Given the description of an element on the screen output the (x, y) to click on. 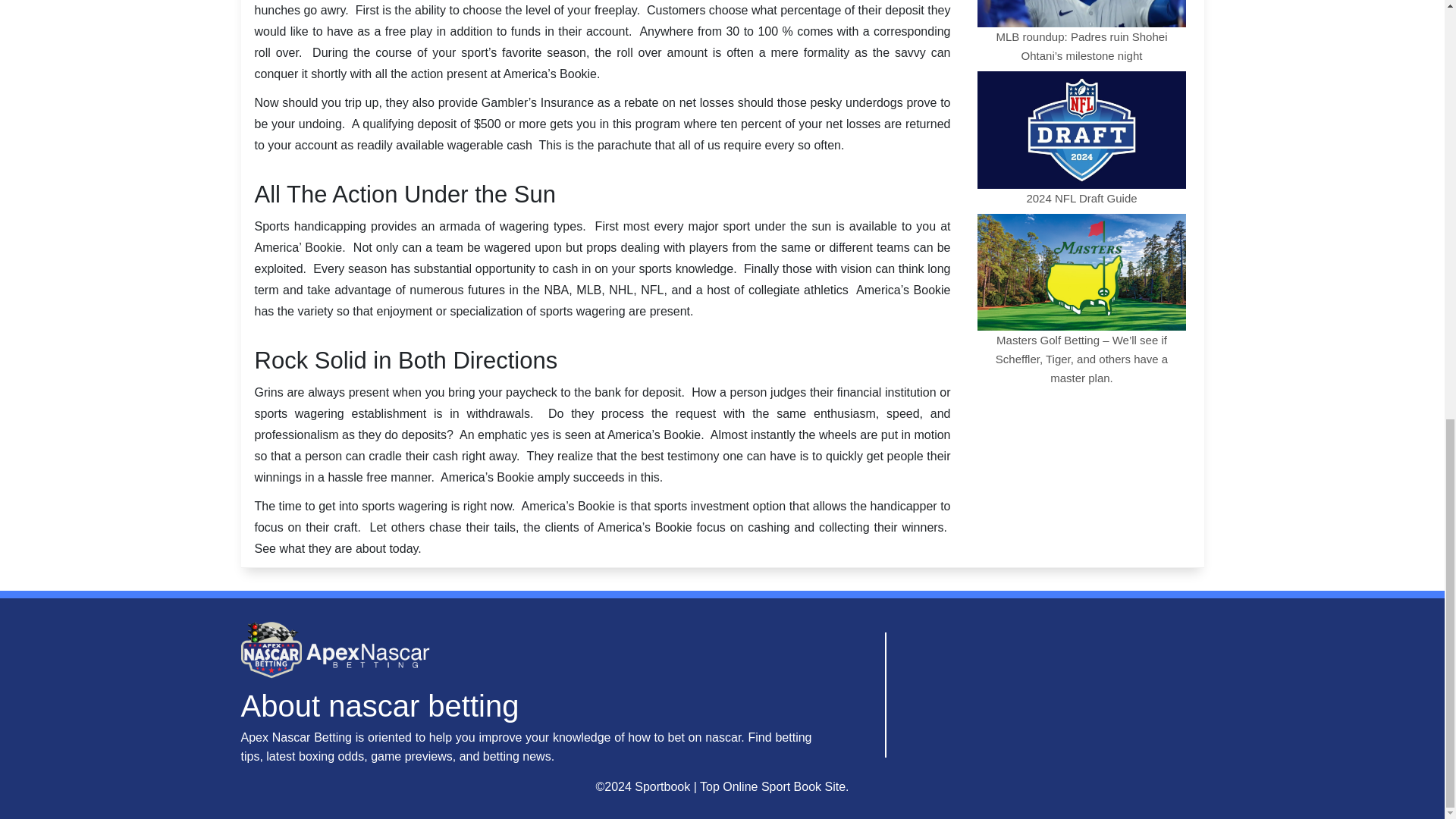
2024 NFL Draft Guide (1081, 137)
